Given the description of an element on the screen output the (x, y) to click on. 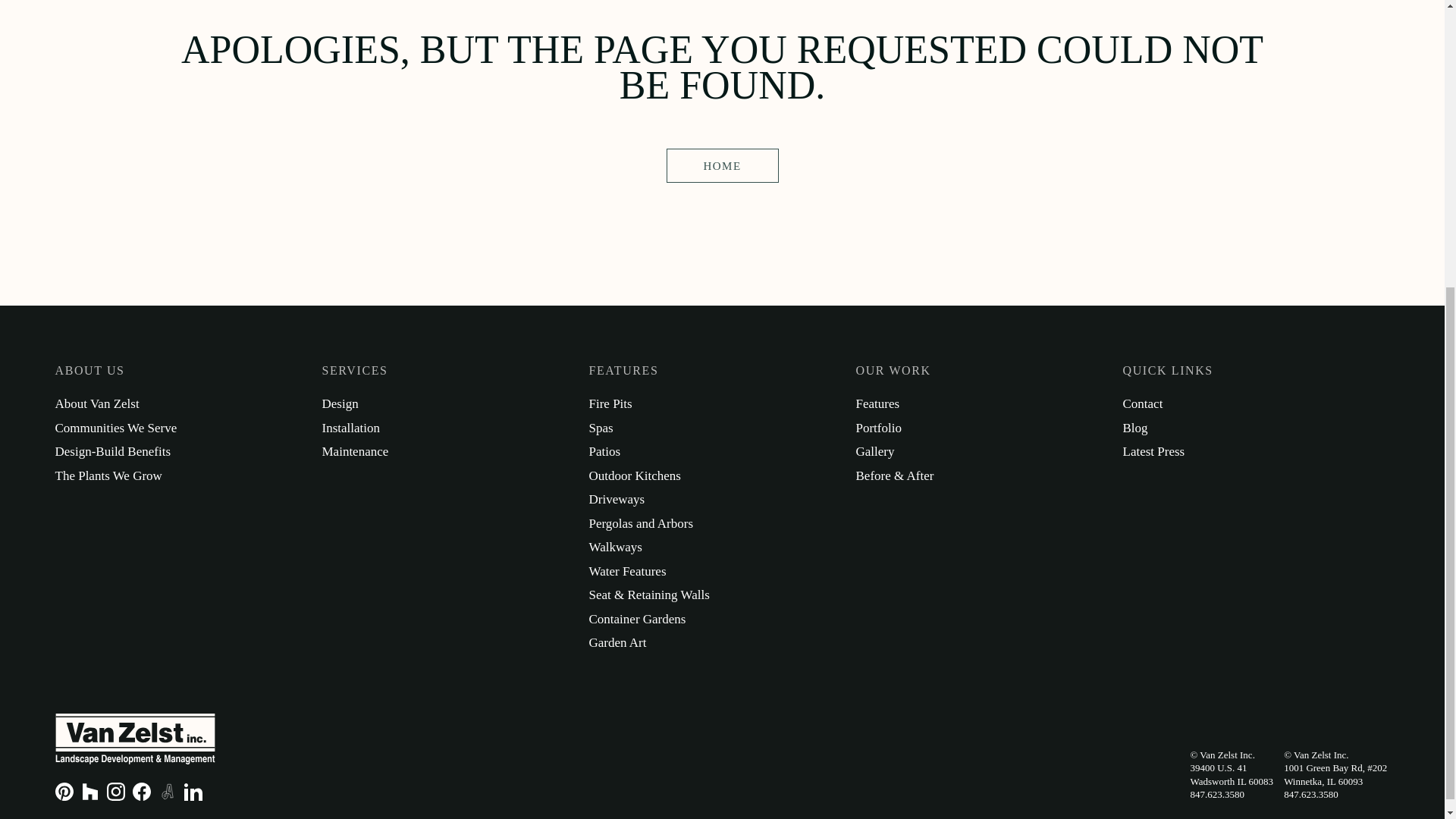
Design-Build Benefits (112, 451)
LinkedIn (192, 791)
HOME (721, 165)
Installation (349, 427)
The Plants We Grow (108, 475)
Instagram (114, 791)
Pinterest (63, 791)
Houzz (89, 791)
Design (339, 403)
Facebook (140, 791)
Communities We Serve (115, 427)
About Van Zelst (96, 403)
